Given the description of an element on the screen output the (x, y) to click on. 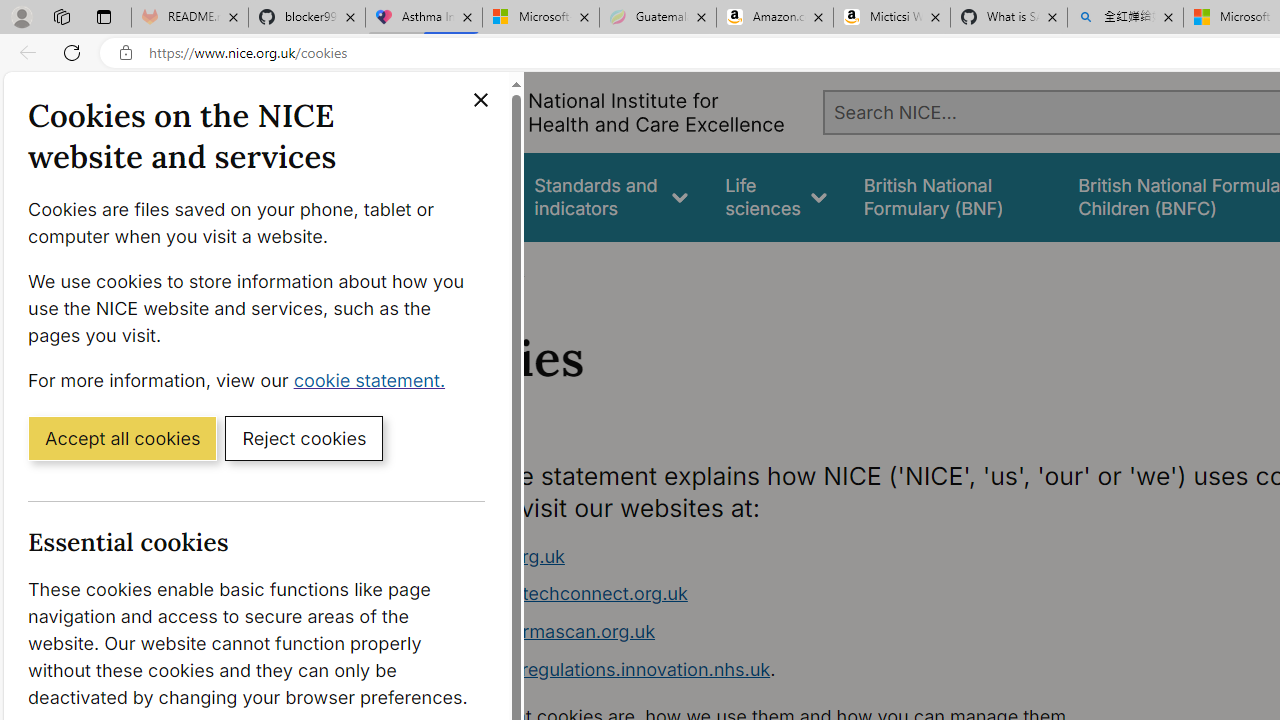
Guidance (458, 196)
Reject cookies (304, 437)
www.nice.org.uk (492, 556)
Accept all cookies (122, 437)
Close cookie banner (480, 99)
Life sciences (776, 196)
Life sciences (776, 196)
www.digitalregulations.innovation.nhs.uk (595, 668)
